Given the description of an element on the screen output the (x, y) to click on. 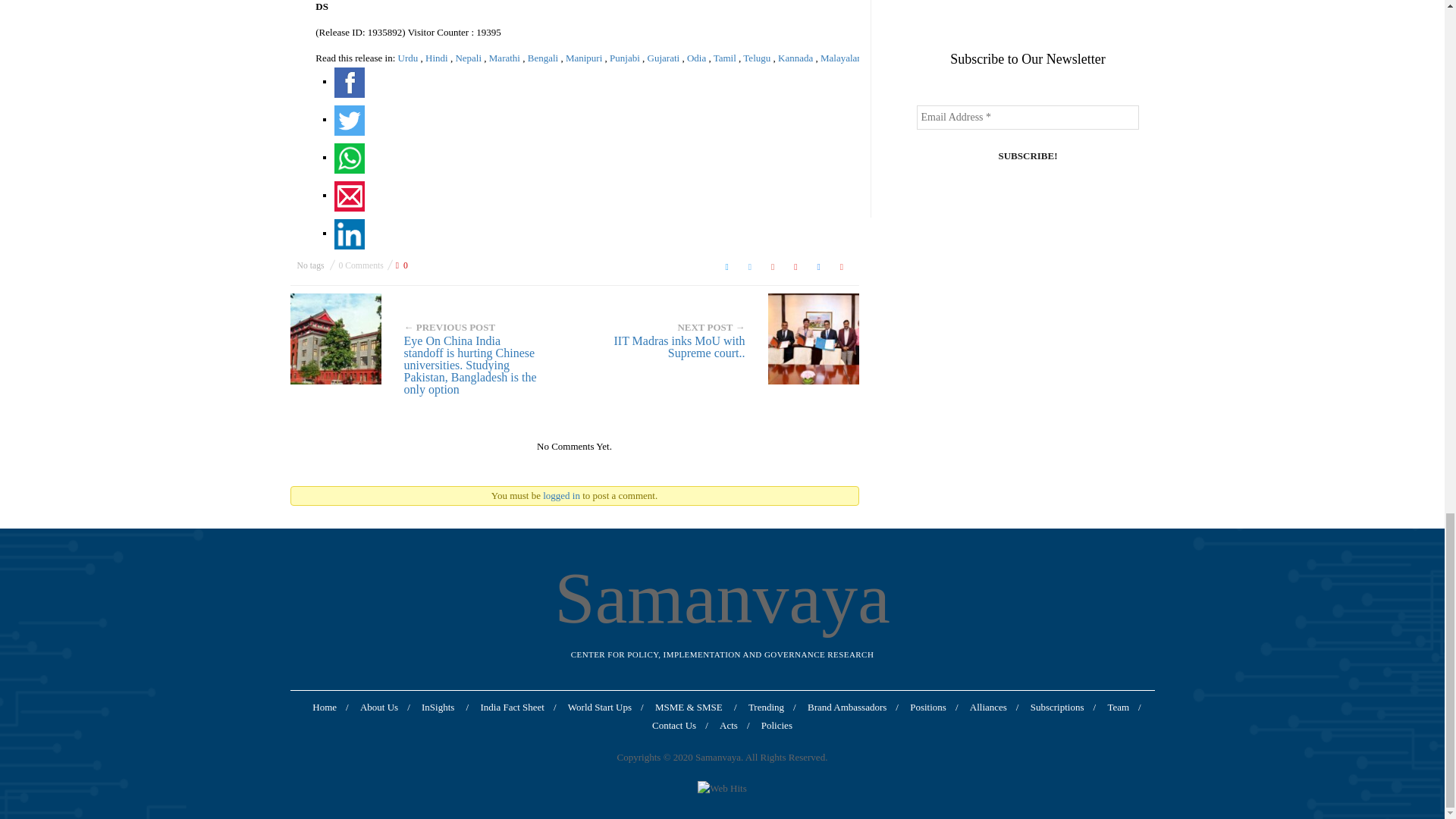
Email Address (1026, 117)
Total Website Hits (721, 788)
Like this (401, 266)
IIT Madras inks MoU with Supreme court.. (722, 338)
Subscribe! (1026, 156)
Center for Policy, Implementation and Governance Research (721, 597)
